Given the description of an element on the screen output the (x, y) to click on. 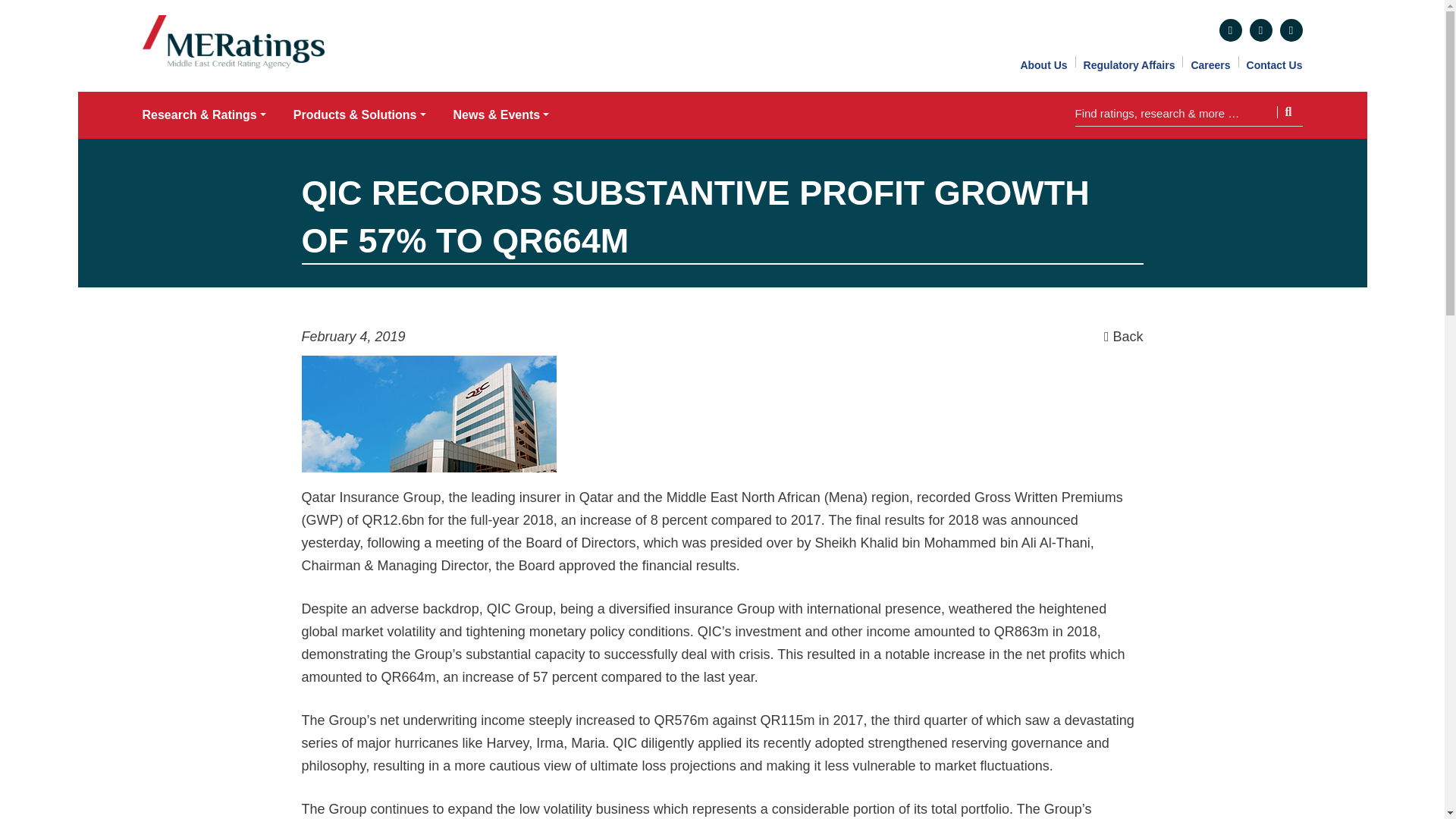
Careers (1210, 64)
About Us (1043, 64)
Back (1122, 336)
Contact Us (1274, 64)
Regulatory Affairs (1128, 64)
